Given the description of an element on the screen output the (x, y) to click on. 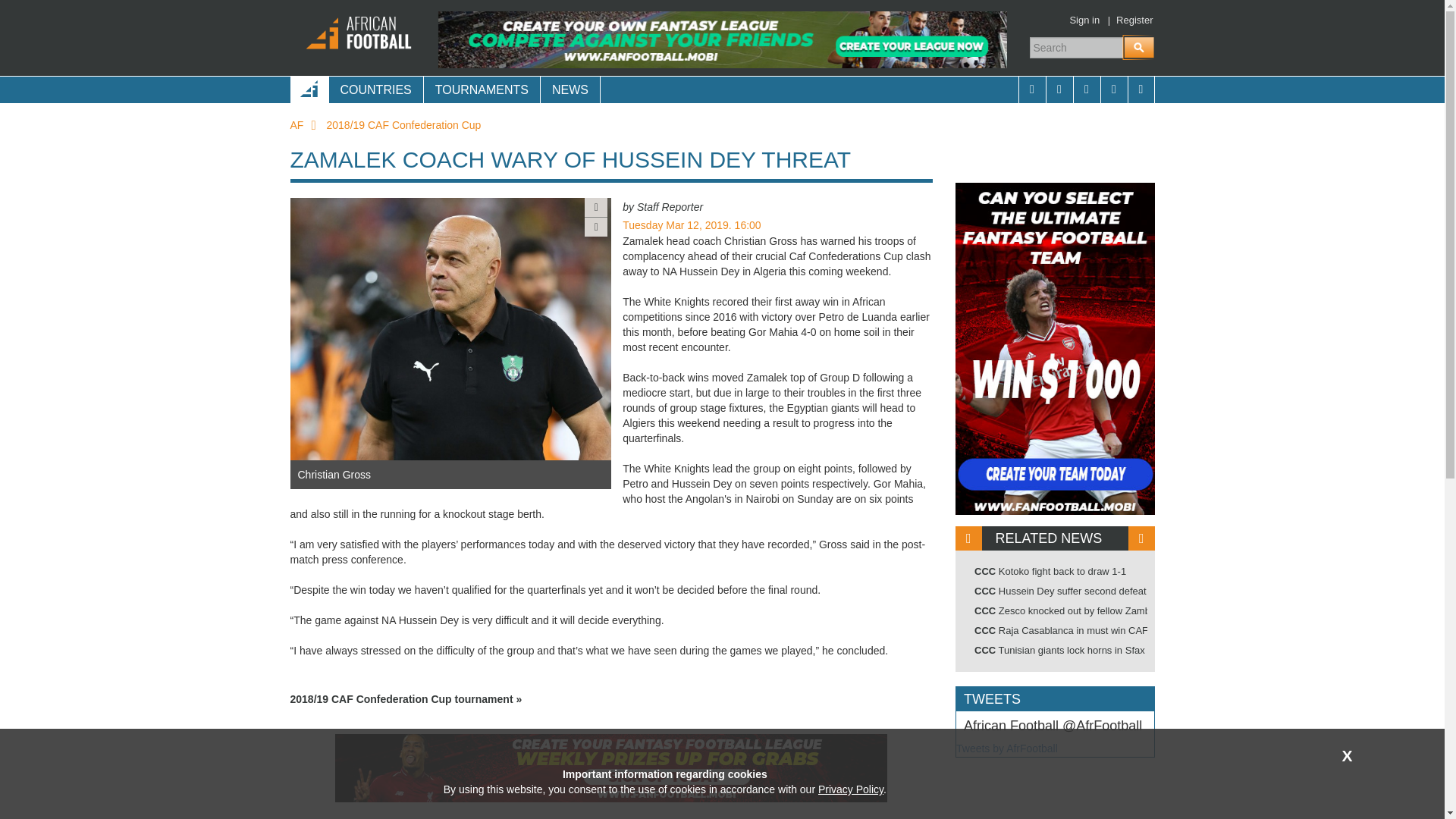
TOURNAMENTS (481, 89)
Sign in (1083, 19)
NEWS (569, 89)
COUNTRIES (374, 89)
Register (1134, 19)
